Given the description of an element on the screen output the (x, y) to click on. 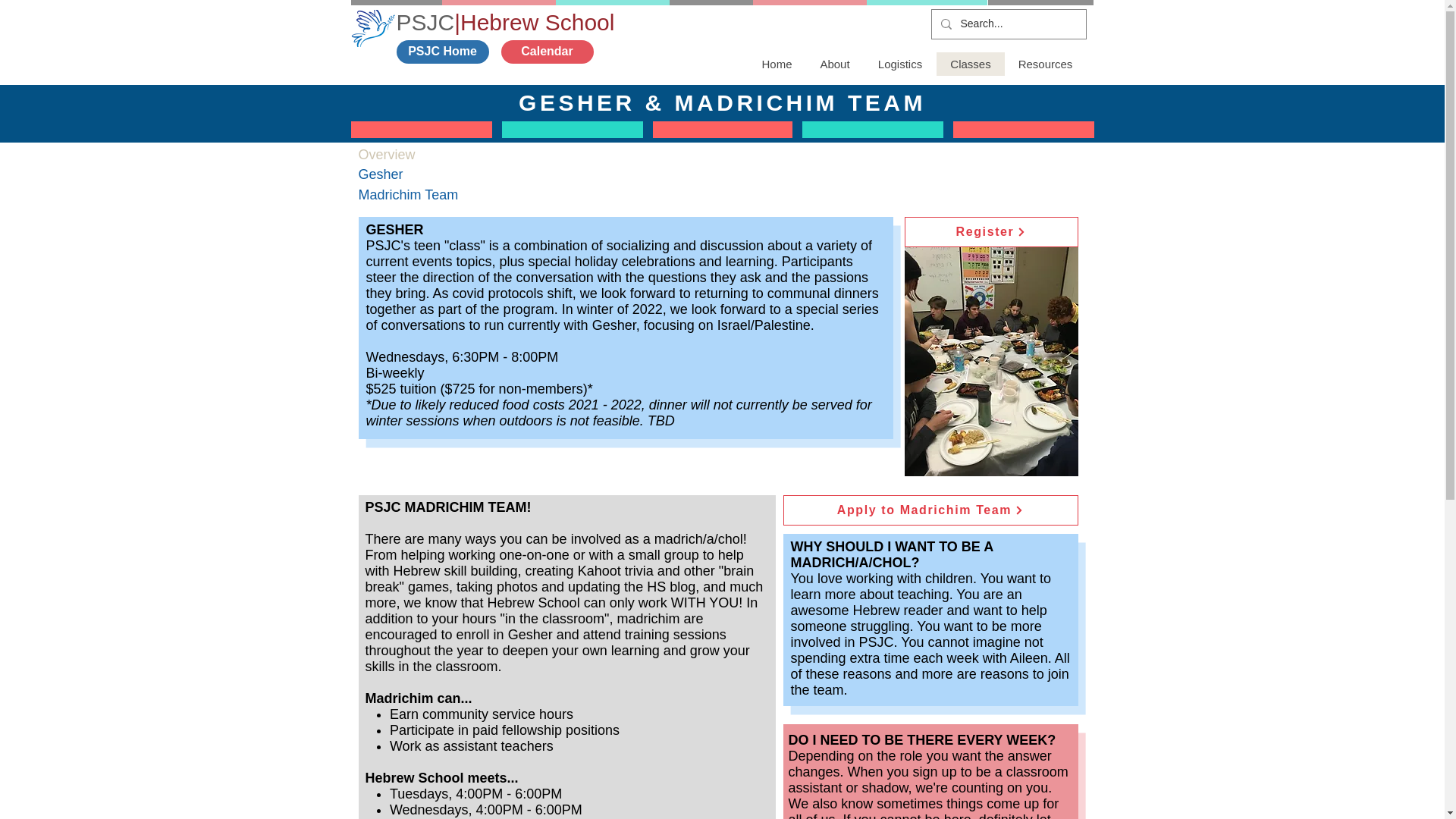
Home (776, 64)
Gesher (467, 174)
Resources (1044, 64)
Madrichim Team (467, 194)
About (834, 64)
Apply to Madrichim Team (930, 510)
Classes (970, 64)
Calendar (546, 51)
PSJC Home (441, 51)
Register (990, 232)
Overview (467, 154)
